Given the description of an element on the screen output the (x, y) to click on. 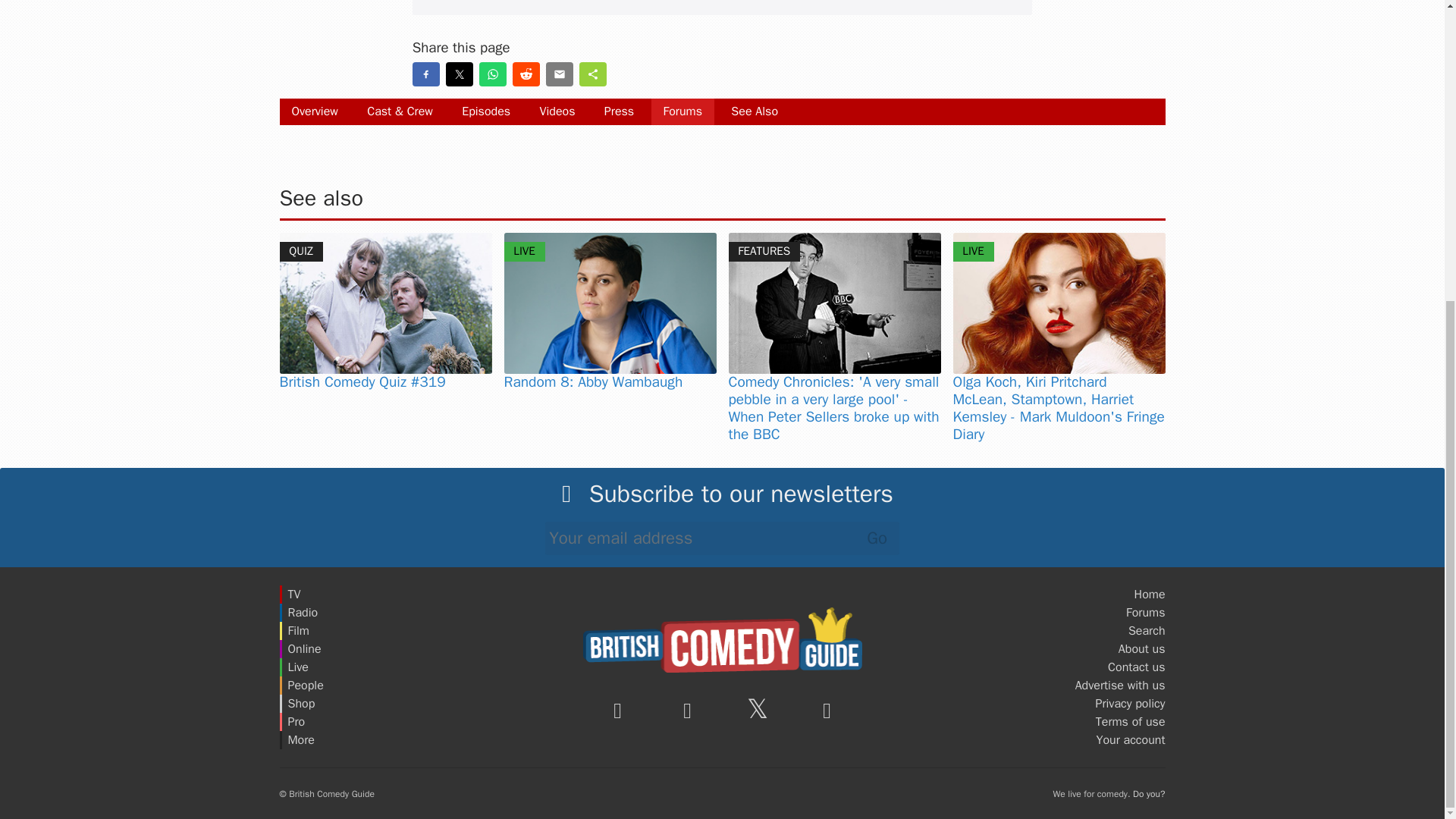
Episodes (485, 111)
Overview (314, 111)
Videos (556, 111)
Abby Wambaugh. Credit: Marie Hald (609, 303)
Hannah Platt (1058, 303)
Peter Sellers: A State Of Comic Ecstasy. Peter Sellers (834, 303)
